Given the description of an element on the screen output the (x, y) to click on. 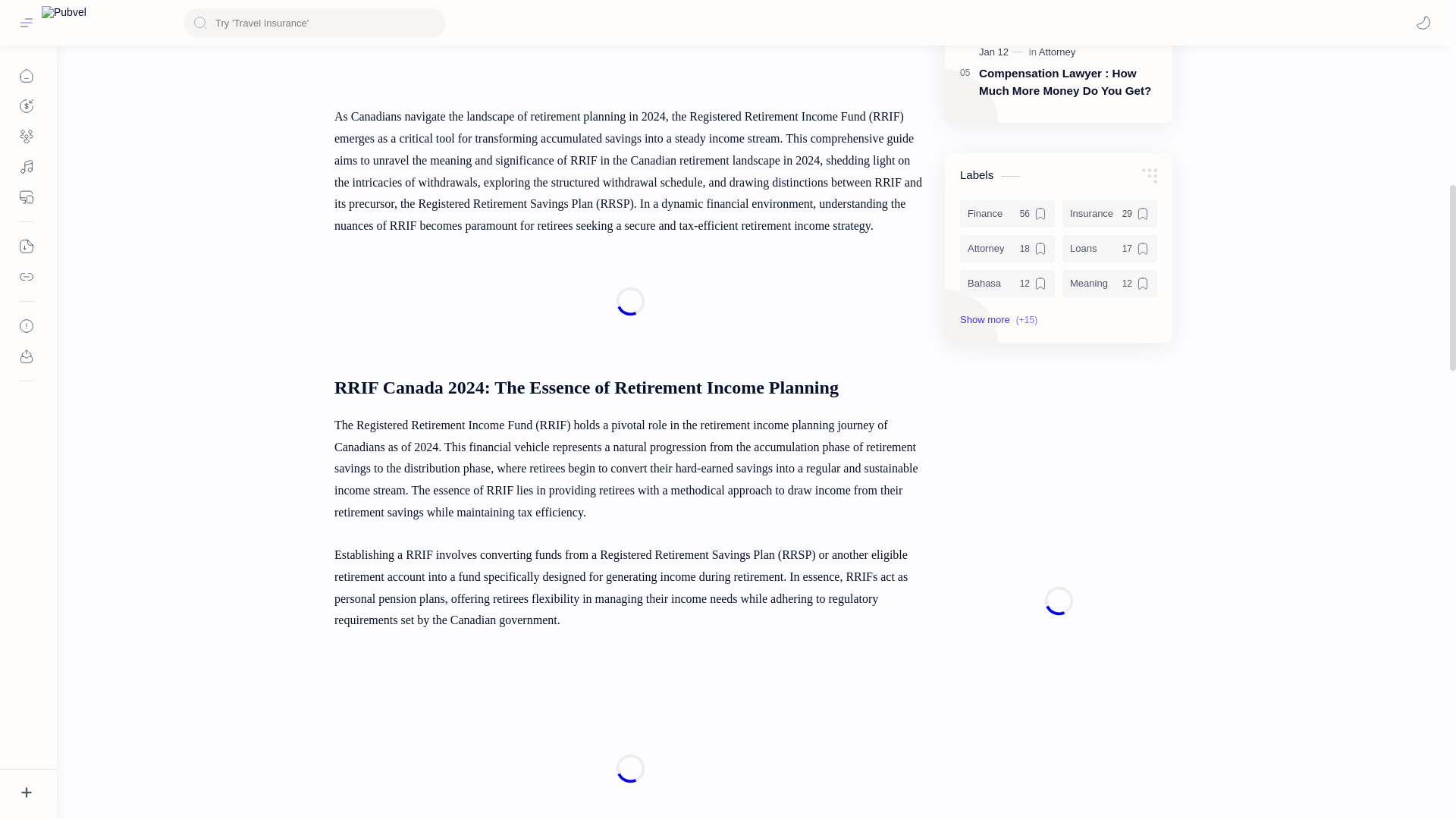
Advertisement (629, 740)
Published: January 12, 2024 (1002, 51)
Advertisement (629, 301)
Published: February 19, 2024 (1002, 2)
